Given the description of an element on the screen output the (x, y) to click on. 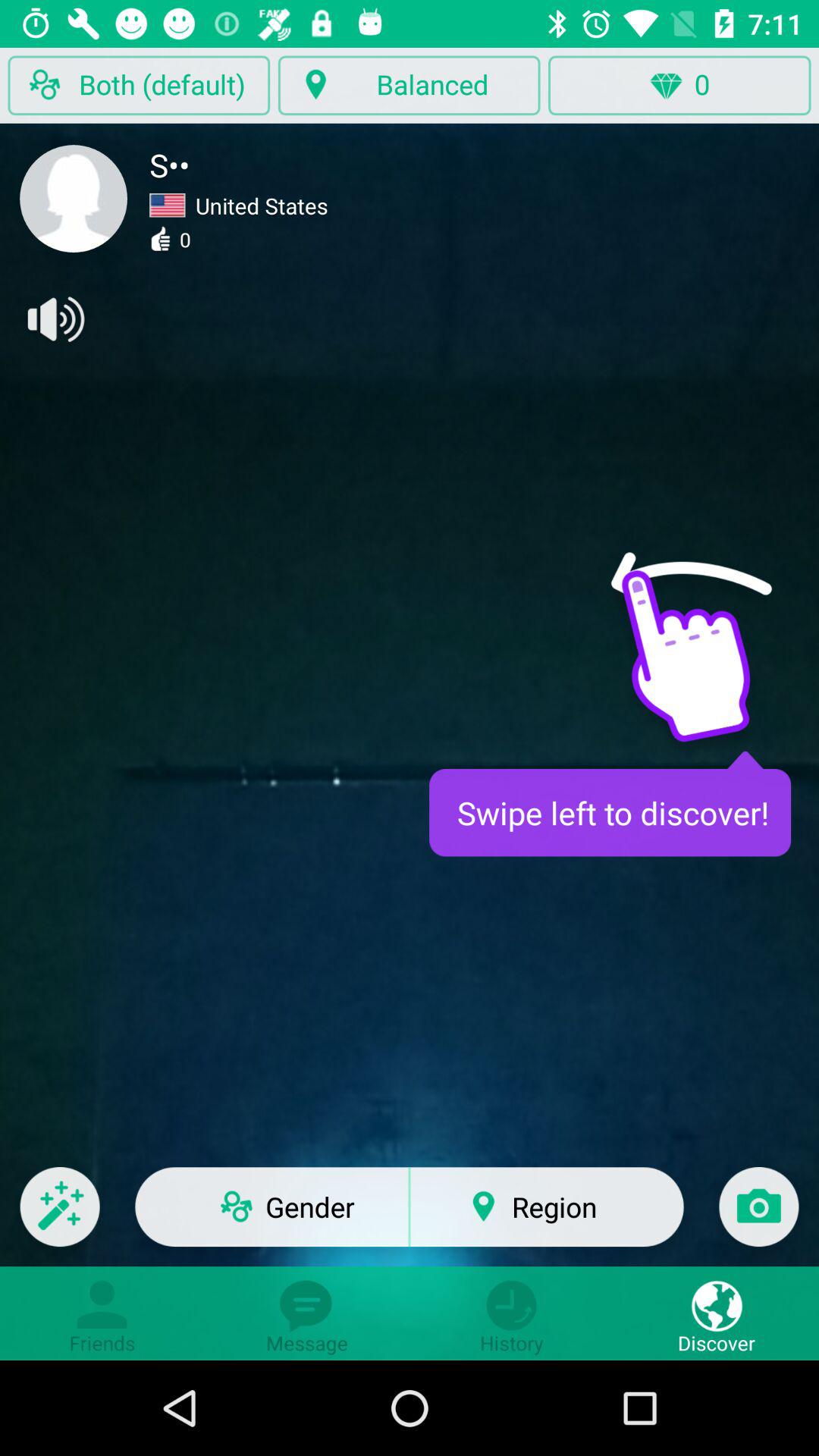
turn off icon above the discover icon (758, 1216)
